Given the description of an element on the screen output the (x, y) to click on. 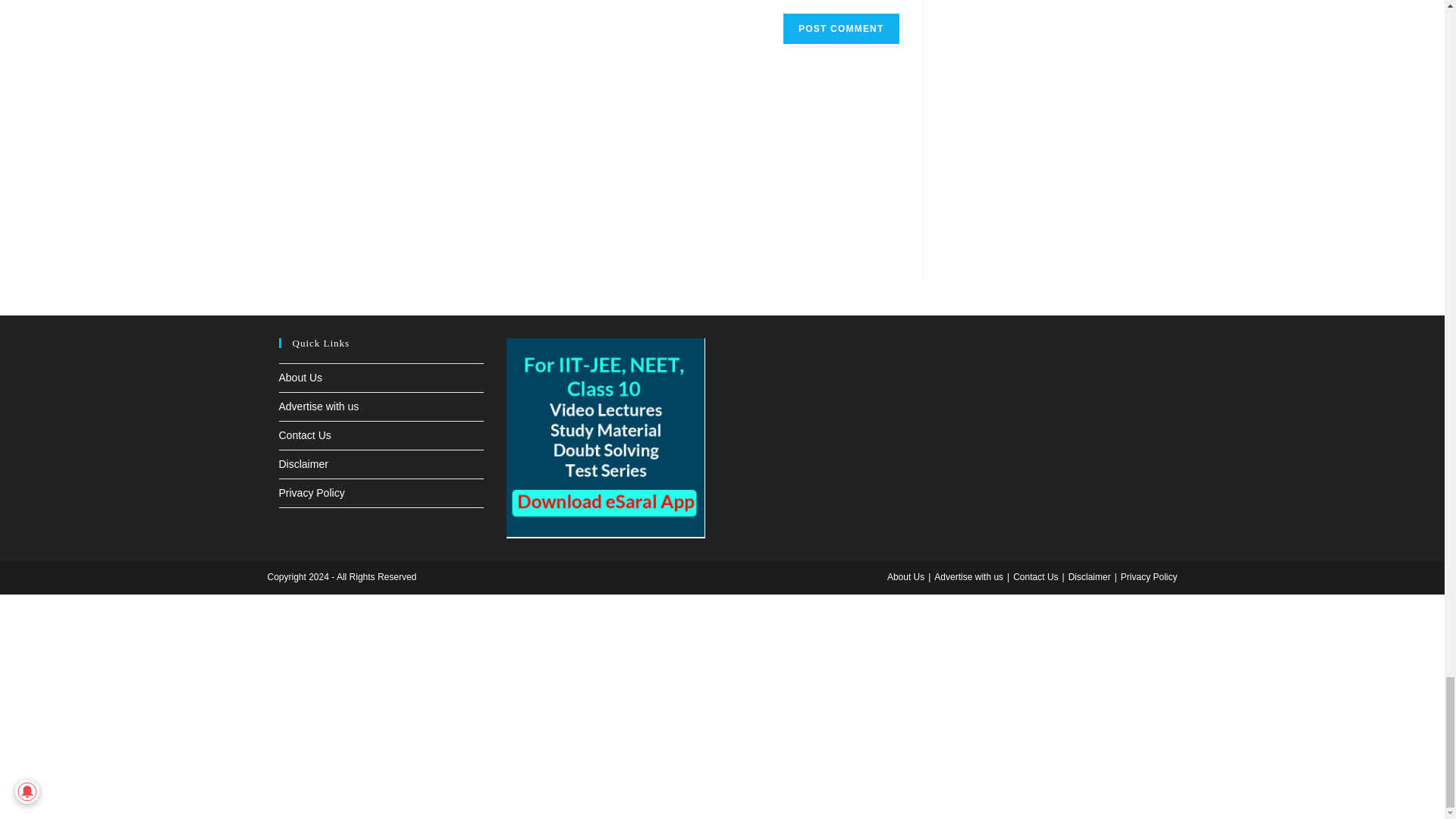
Post Comment (840, 28)
